Given the description of an element on the screen output the (x, y) to click on. 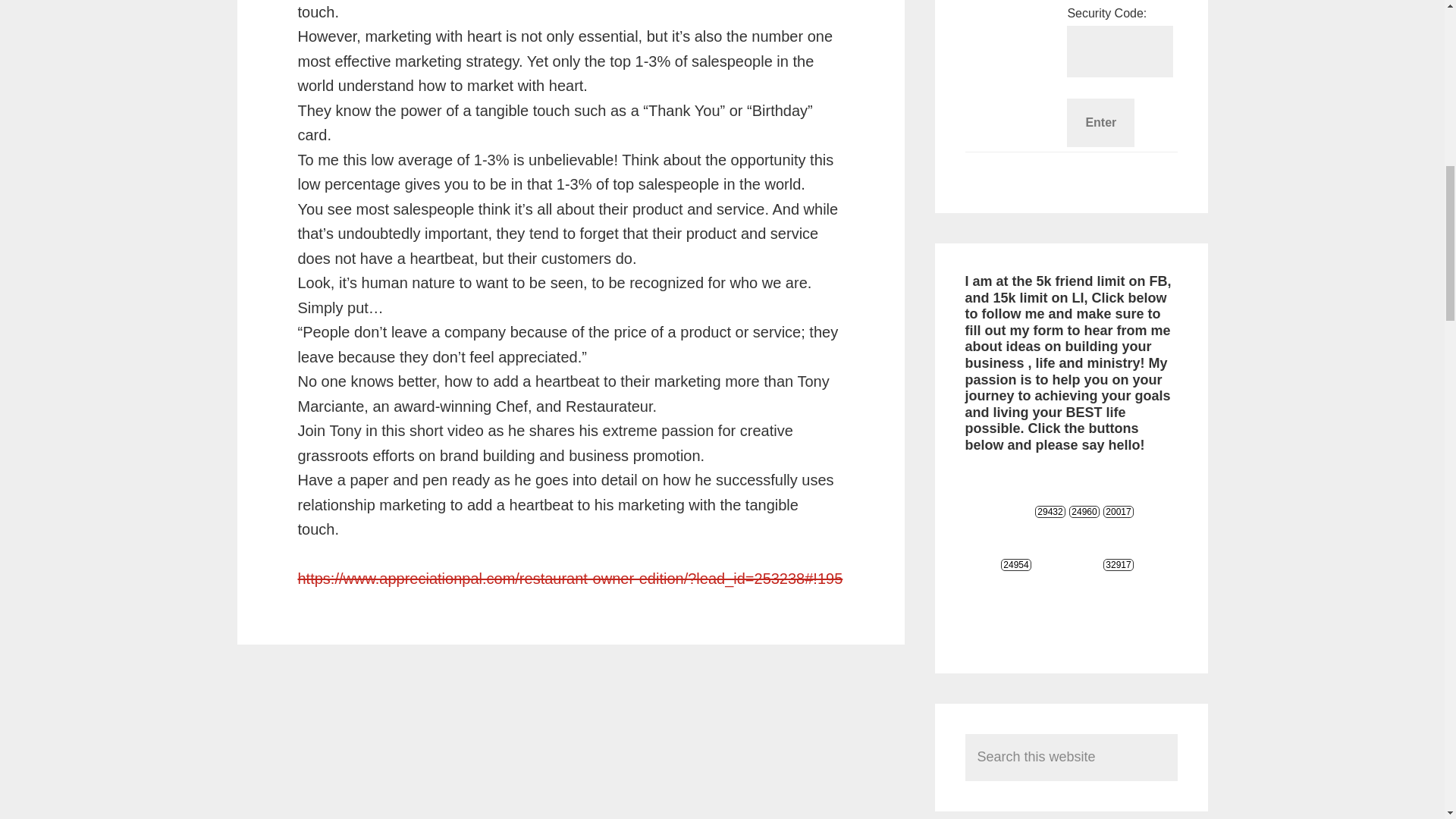
Enter (1100, 122)
Soundcloud (1083, 536)
Enter (1100, 122)
Snapchat (1050, 536)
